Given the description of an element on the screen output the (x, y) to click on. 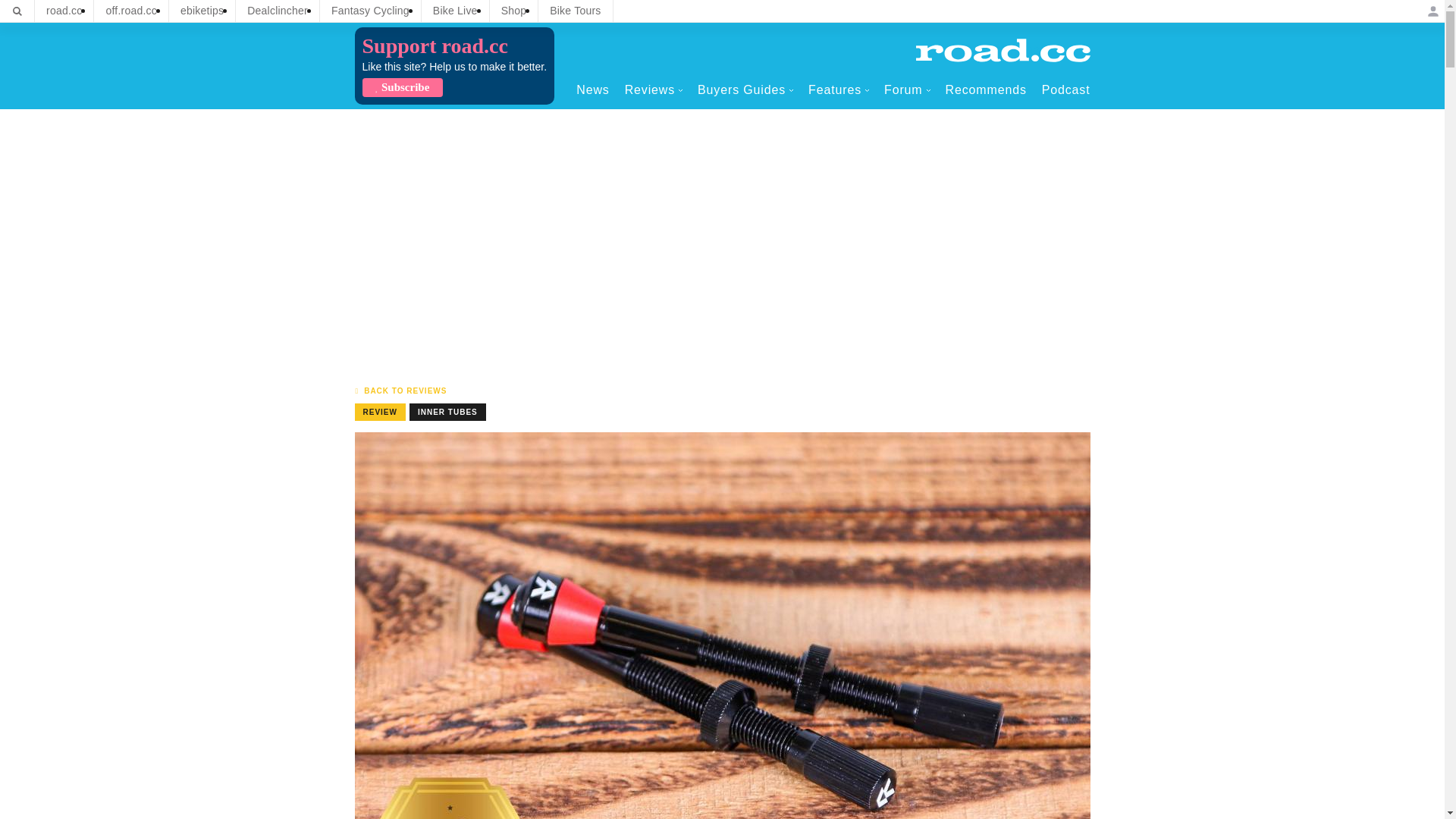
Subscribe (402, 87)
Fantasy Cycling (370, 11)
road.cc (63, 11)
Bike Tours (574, 11)
Dealclincher (276, 11)
off.road.cc (131, 11)
Bike Live (455, 11)
Home (1002, 50)
Reviews (653, 89)
Shop (513, 11)
